Given the description of an element on the screen output the (x, y) to click on. 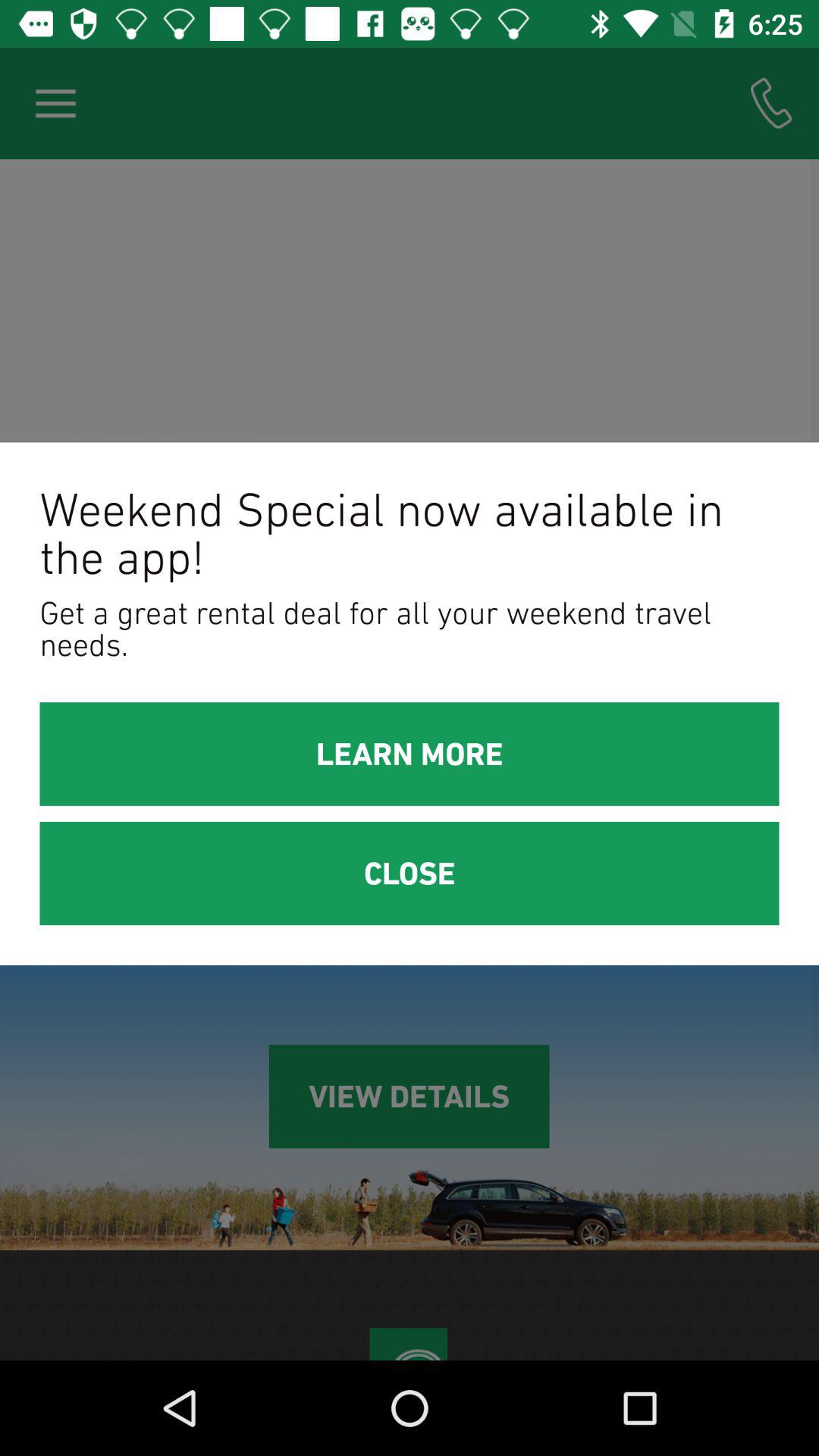
turn off icon below learn more icon (409, 873)
